Given the description of an element on the screen output the (x, y) to click on. 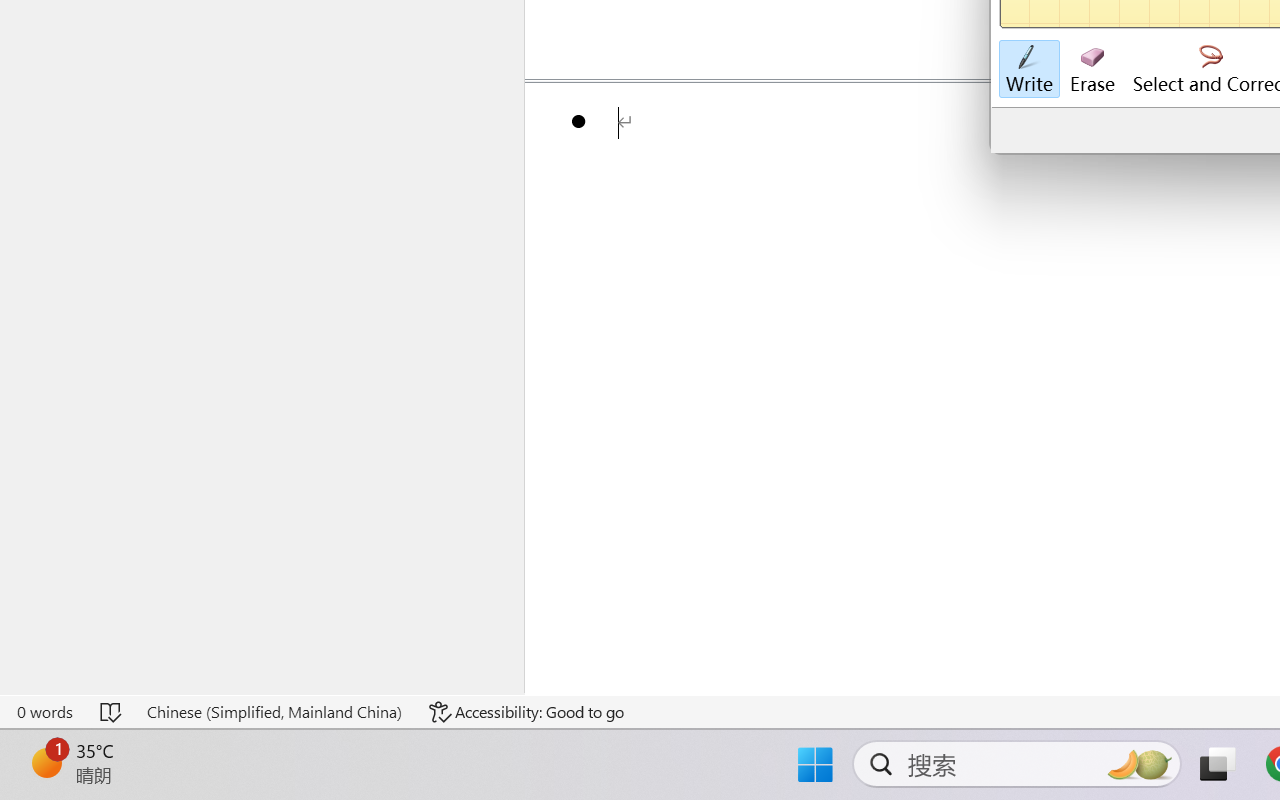
Erase (1092, 69)
Write (1028, 69)
